Given the description of an element on the screen output the (x, y) to click on. 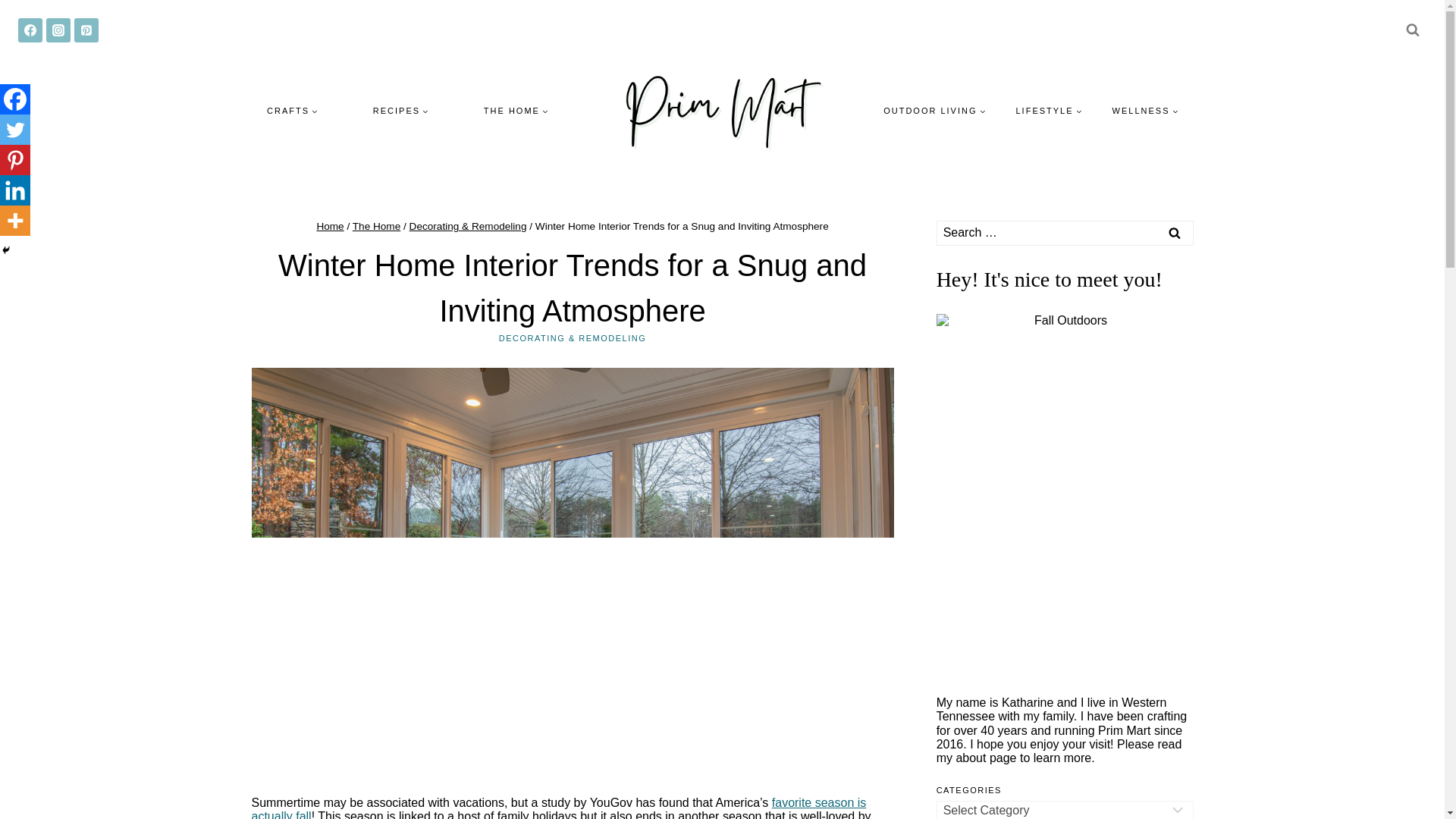
LIFESTYLE (1049, 110)
More (15, 220)
THE HOME (515, 110)
Linkedin (15, 190)
Search (1174, 232)
Pinterest (15, 159)
Facebook (15, 99)
OUTDOOR LIVING (933, 110)
